Given the description of an element on the screen output the (x, y) to click on. 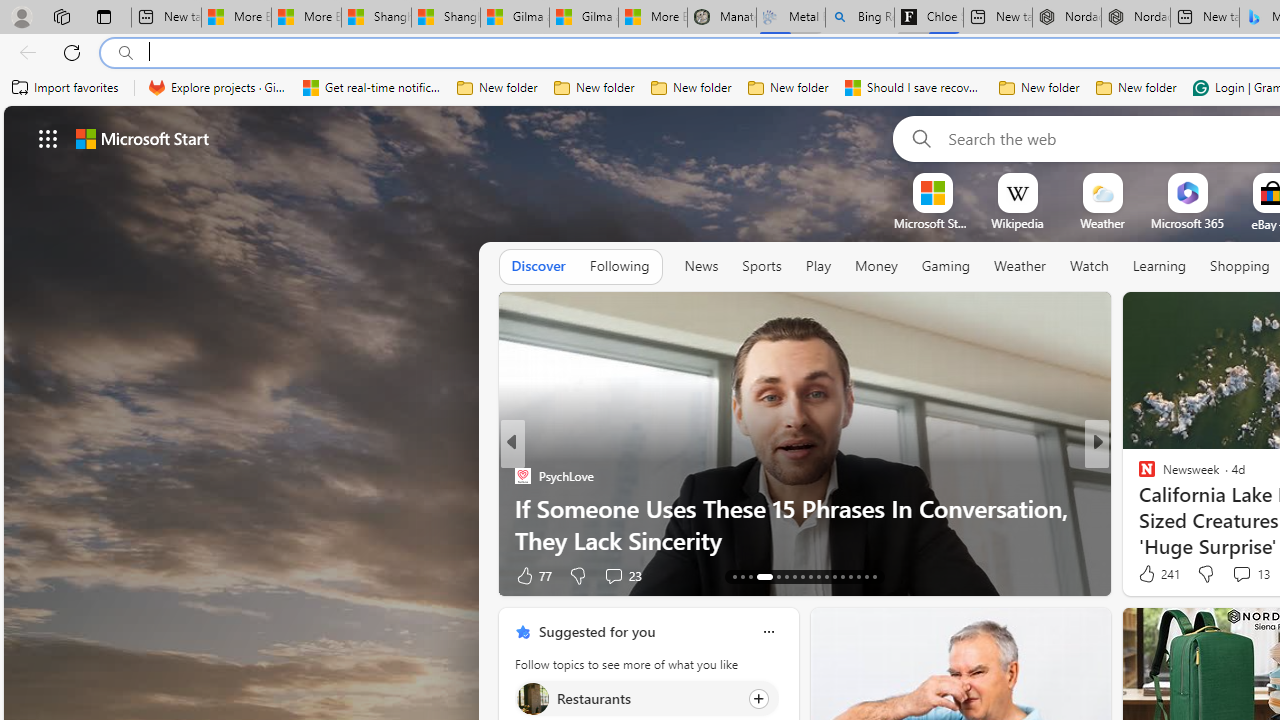
View comments 405 Comment (11, 575)
AutomationID: tab-14 (742, 576)
AutomationID: tab-22 (818, 576)
AutomationID: tab-19 (793, 576)
AutomationID: tab-24 (833, 576)
99 Like (1149, 574)
Suggested for you (596, 631)
CBS News (Video) (1138, 475)
